Given the description of an element on the screen output the (x, y) to click on. 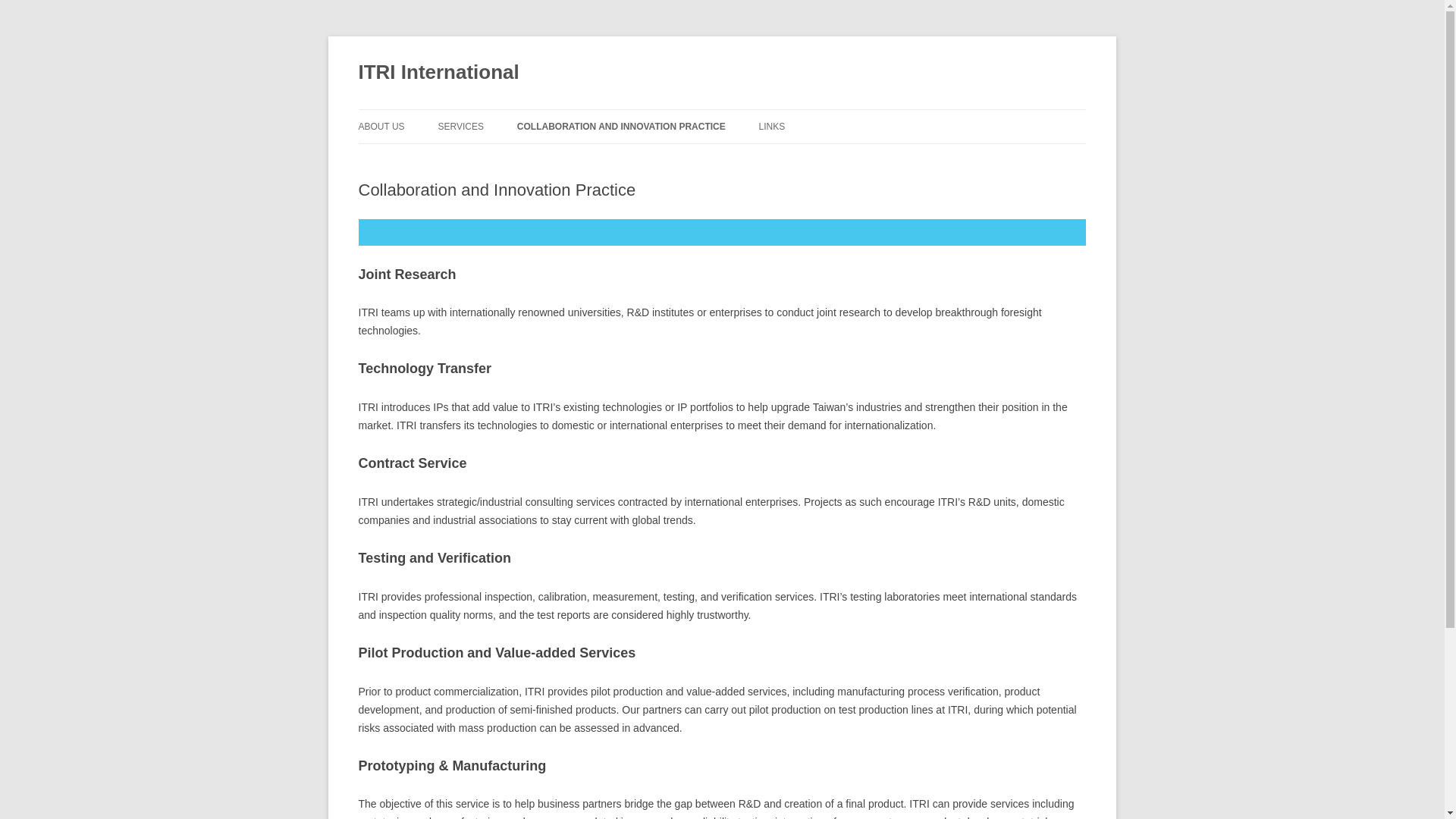
ABOUT US (381, 126)
COLLABORATION AND INNOVATION PRACTICE (620, 126)
ITRI International (438, 72)
SERVICES (460, 126)
